Given the description of an element on the screen output the (x, y) to click on. 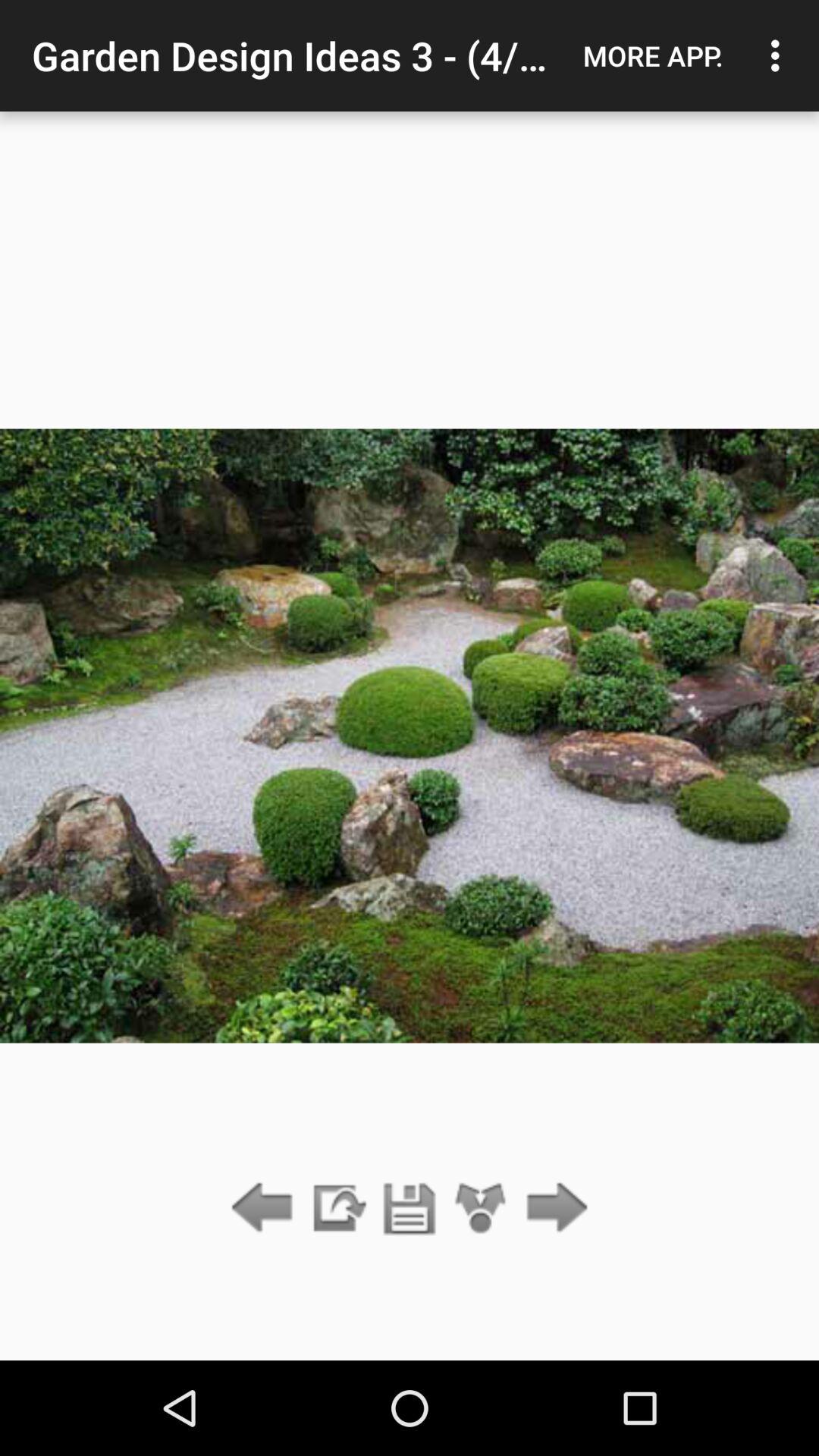
go slideshow (337, 1208)
